Given the description of an element on the screen output the (x, y) to click on. 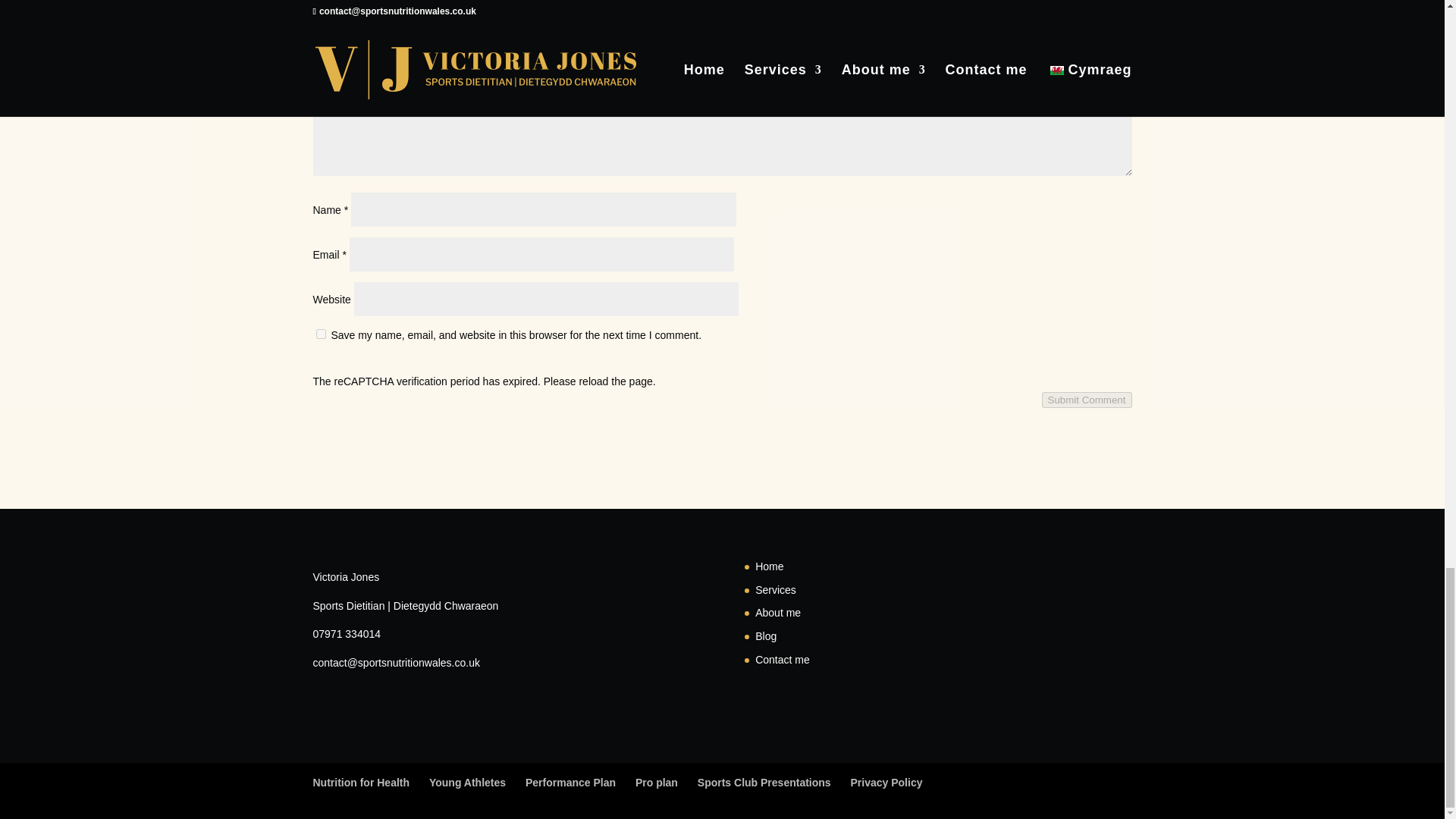
Sports Club Presentations (764, 782)
Contact me (782, 659)
Home (769, 566)
Pro plan (656, 782)
About me (777, 612)
Services (775, 589)
Young Athletes (467, 782)
Performance Plan (570, 782)
Submit Comment (1087, 399)
yes (319, 334)
